Given the description of an element on the screen output the (x, y) to click on. 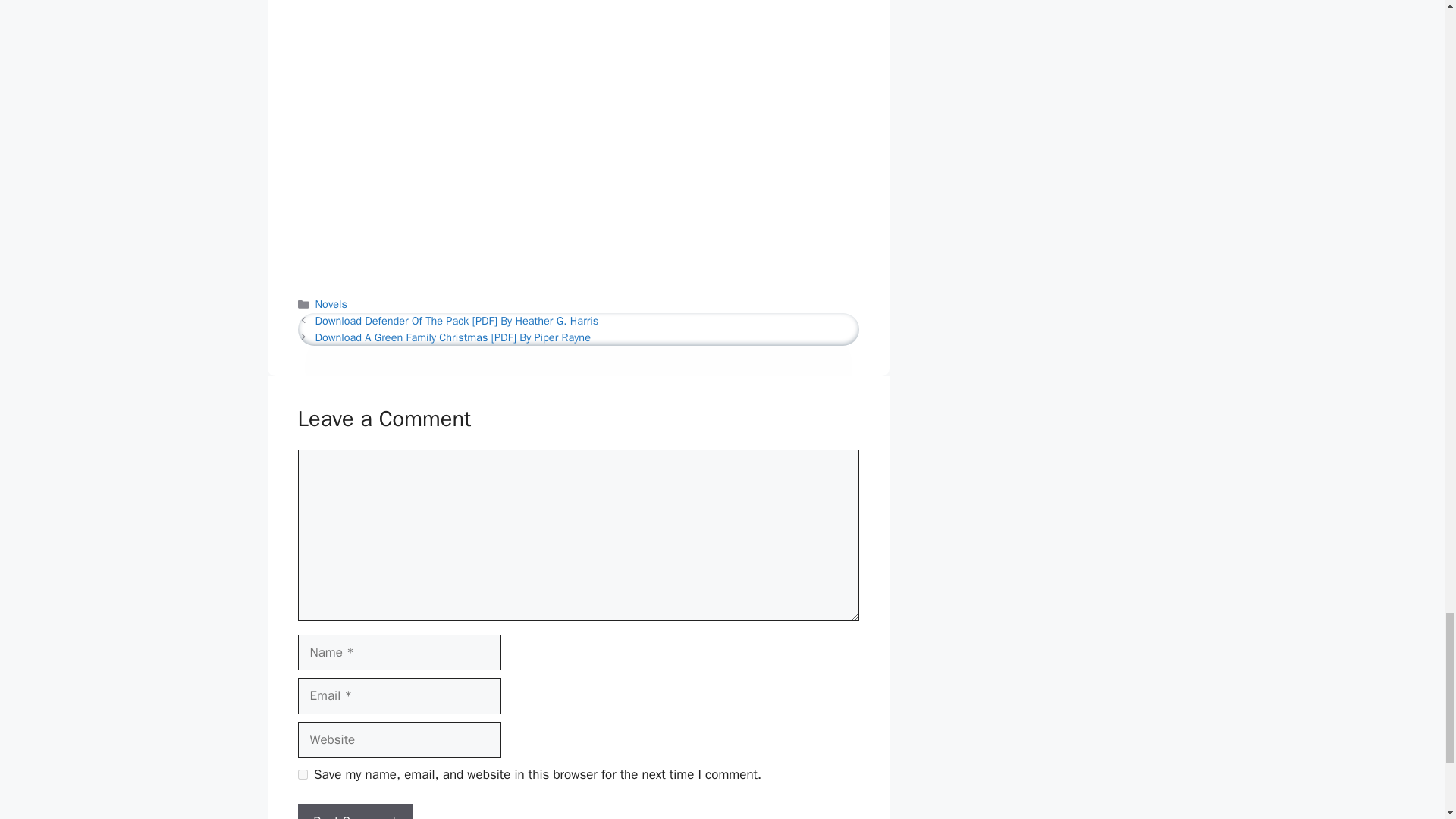
Post Comment (354, 811)
yes (302, 774)
Advertisement (572, 28)
